Given the description of an element on the screen output the (x, y) to click on. 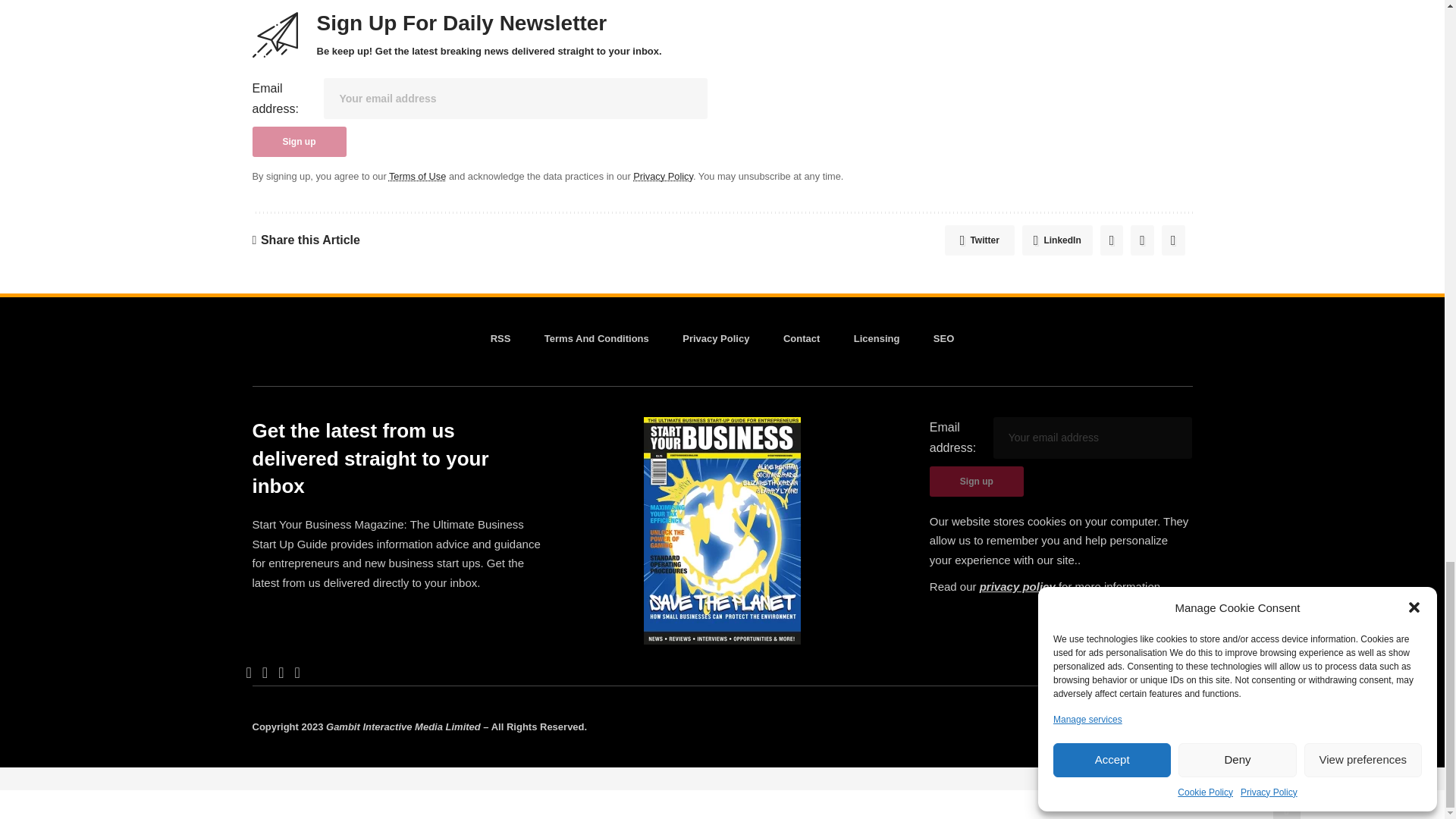
Sign up (298, 141)
Sign up (976, 481)
